Given the description of an element on the screen output the (x, y) to click on. 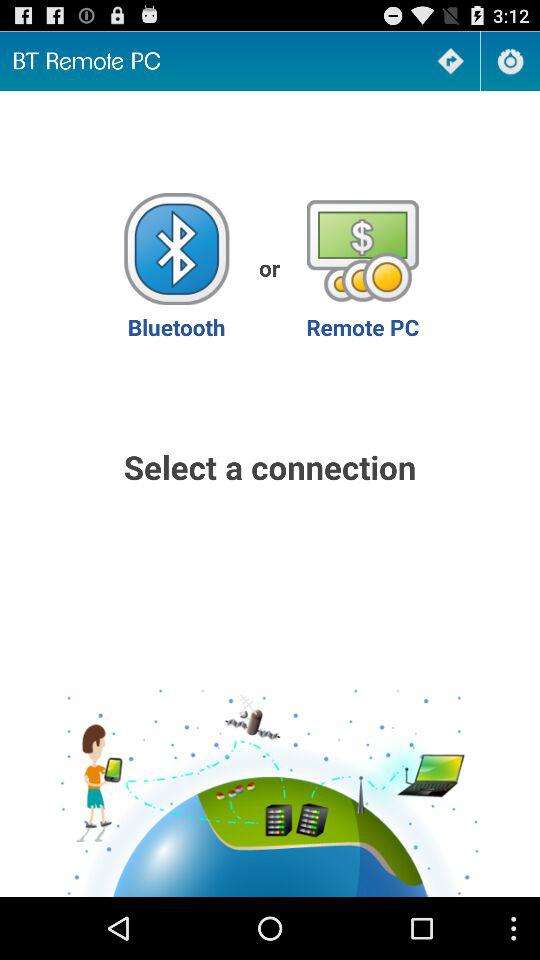
open item below bt remote pc icon (176, 267)
